Given the description of an element on the screen output the (x, y) to click on. 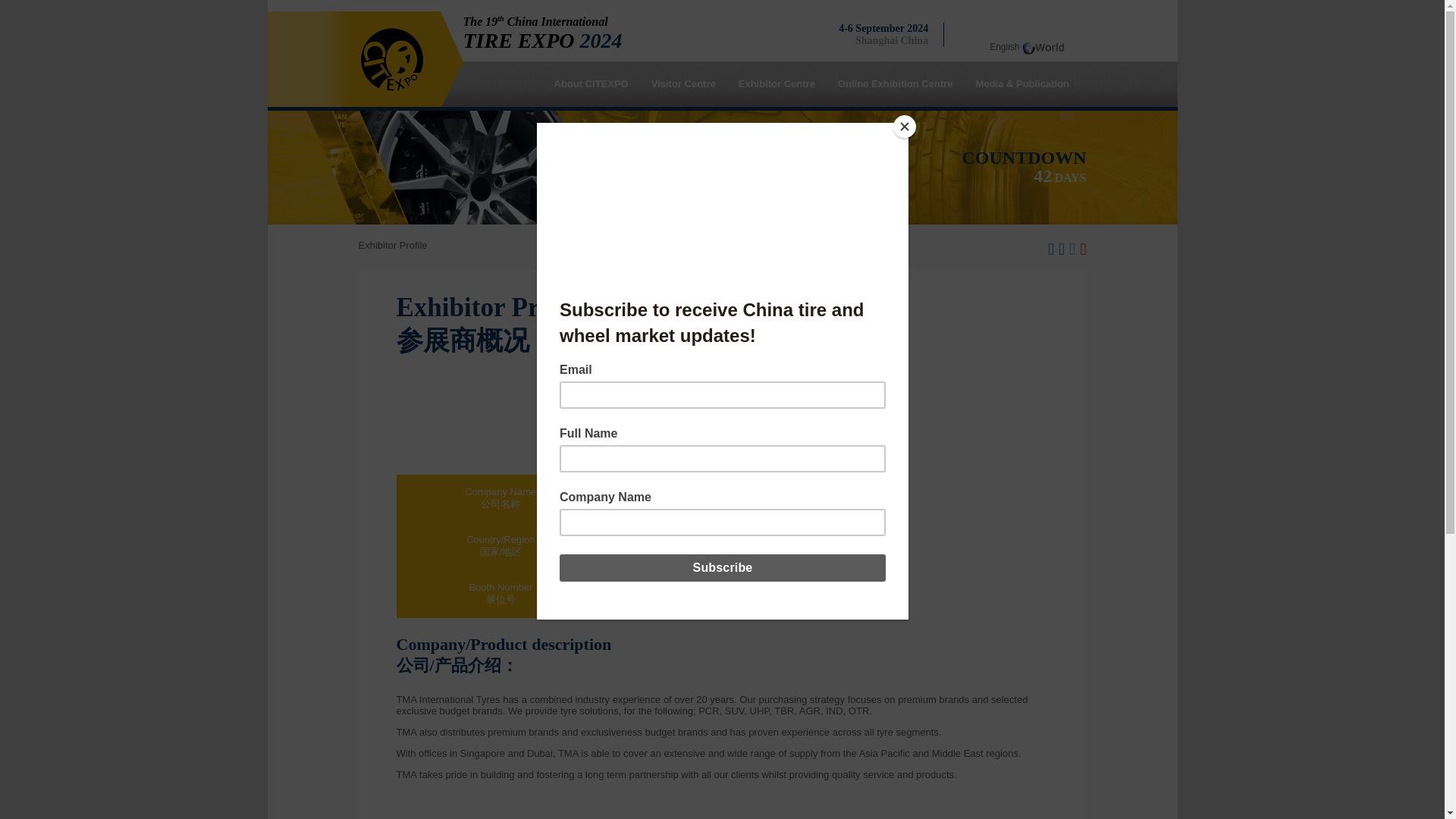
About CITEXPO (590, 83)
Visitor Centre (683, 83)
Online Exhibition Centre (895, 83)
Exhibitor Centre (776, 83)
